Given the description of an element on the screen output the (x, y) to click on. 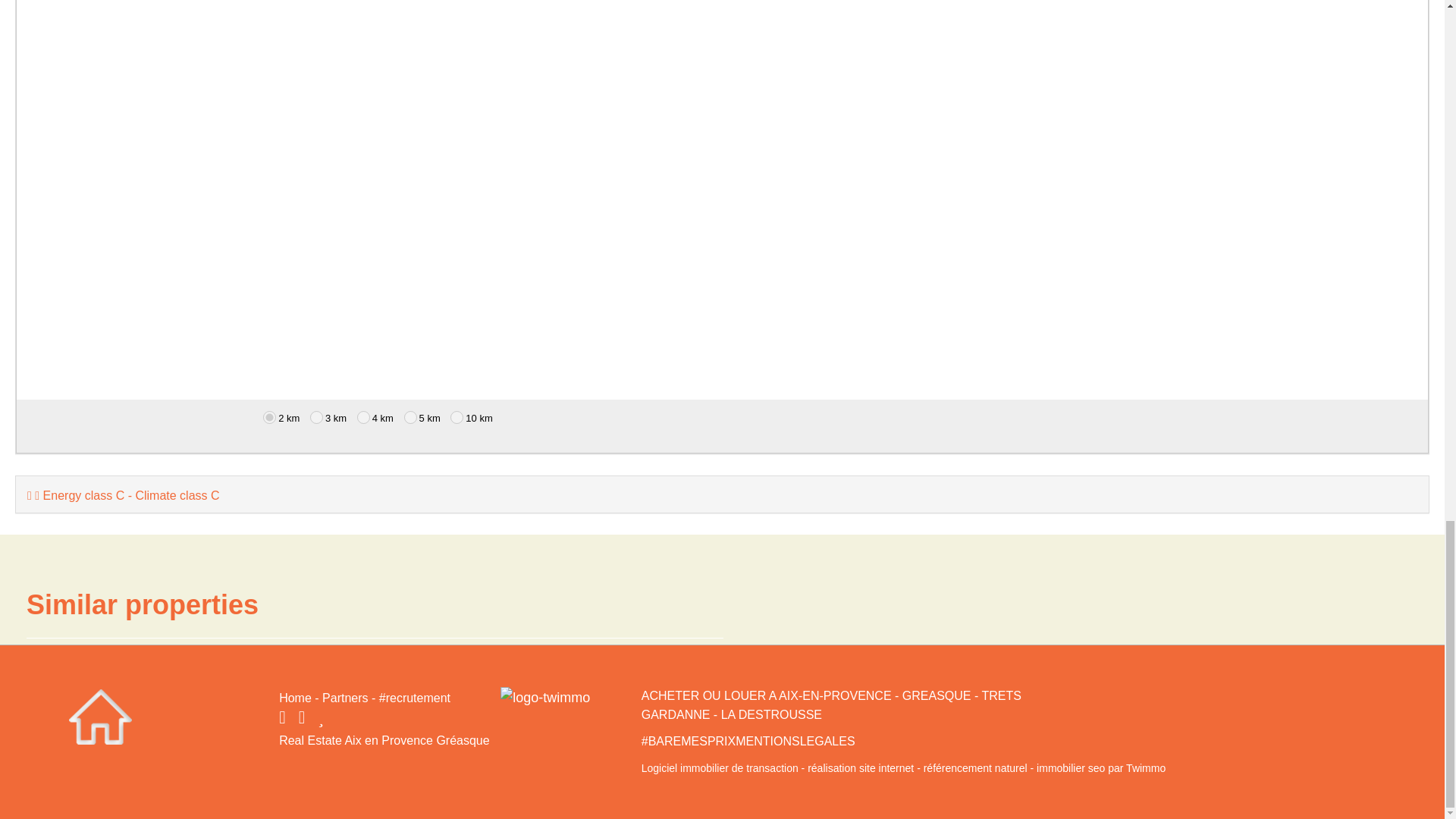
Legal notice (749, 740)
par Twimmo (1101, 767)
4 (362, 417)
5 (410, 417)
10 (456, 417)
3 (316, 417)
2 (269, 417)
Logiciel immobilier de transaction (725, 767)
